Given the description of an element on the screen output the (x, y) to click on. 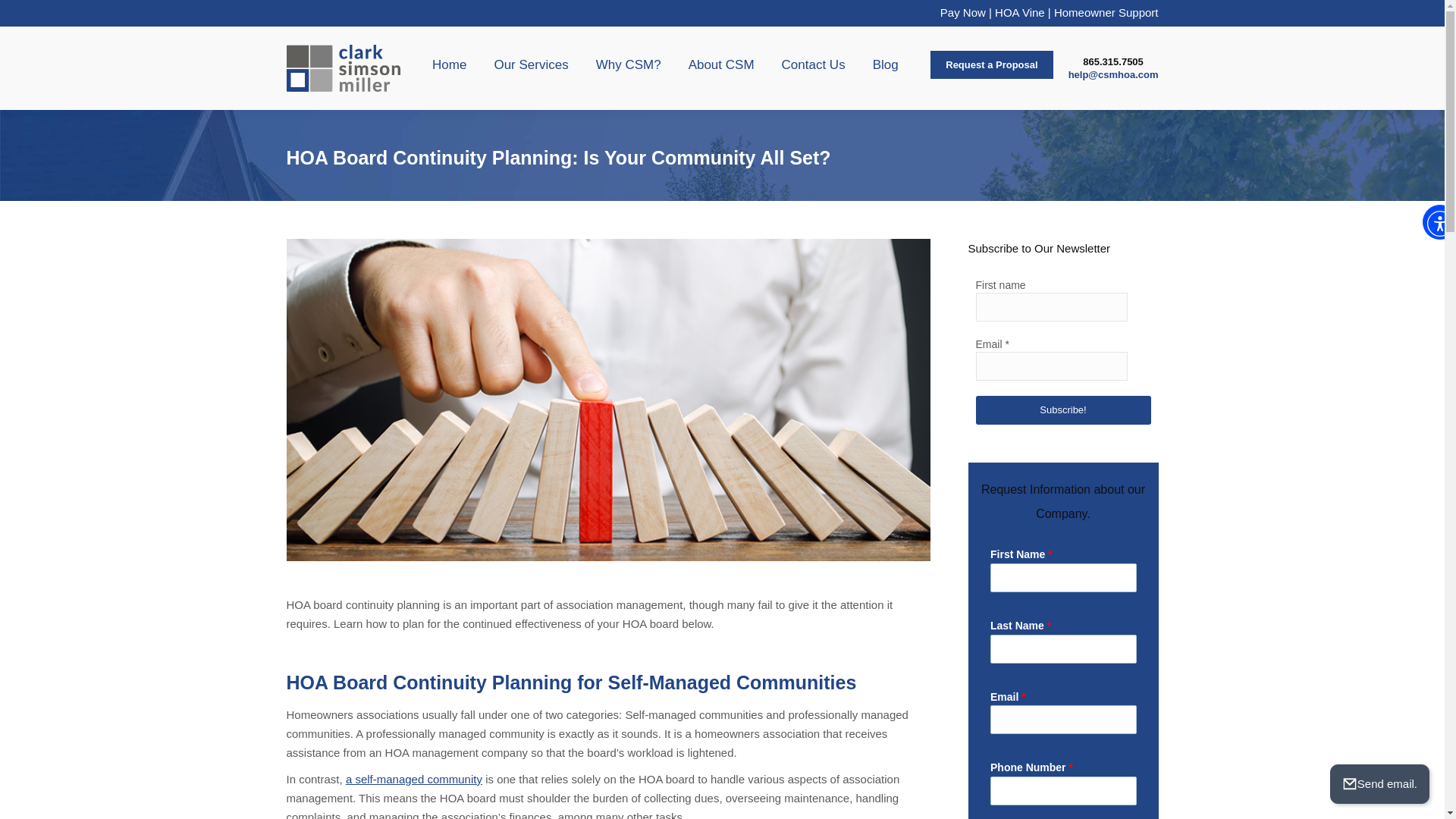
Contact Us (813, 64)
Our Services (530, 64)
First name (1050, 306)
Home (448, 64)
Request a Proposal (990, 63)
About CSM (721, 64)
Why CSM? (627, 64)
Homeowner Support (1106, 11)
Pay Now (962, 11)
HOA Vine (1019, 11)
Subscribe! (1062, 410)
Blog (885, 64)
Email (1050, 366)
